Given the description of an element on the screen output the (x, y) to click on. 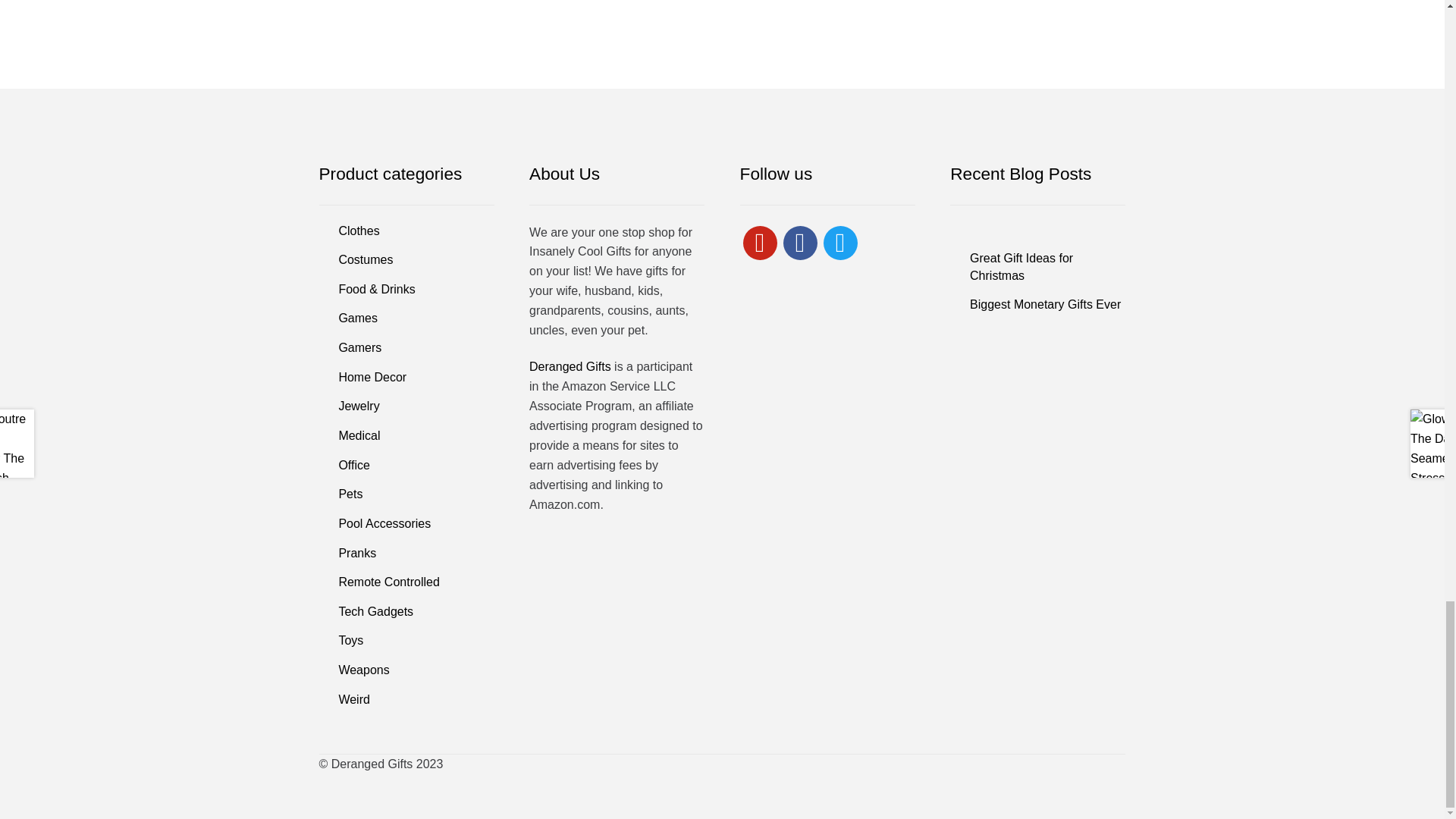
Default Label (759, 241)
Twitter (840, 241)
Facebook (799, 241)
